Given the description of an element on the screen output the (x, y) to click on. 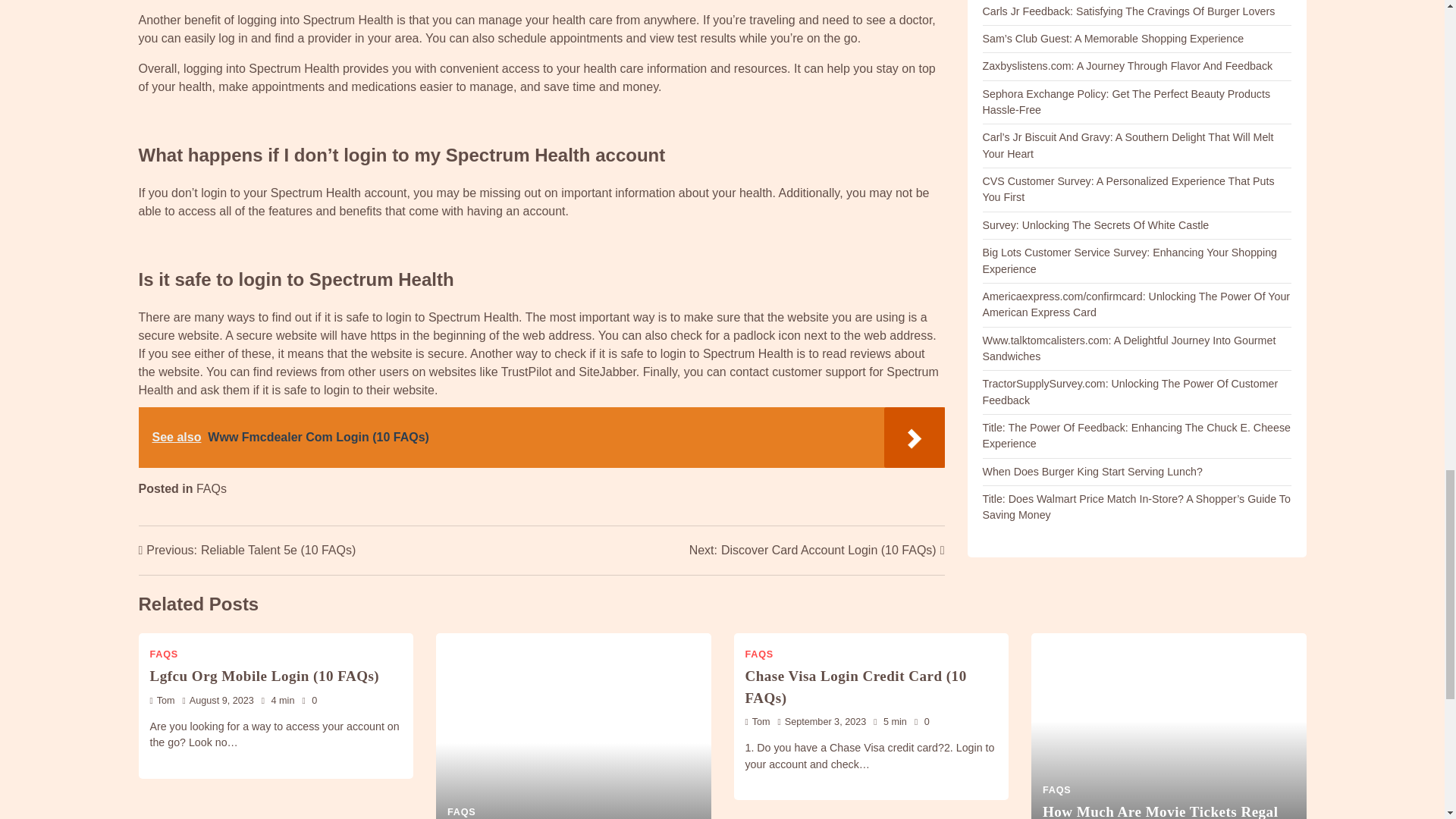
FAQs (211, 488)
